Given the description of an element on the screen output the (x, y) to click on. 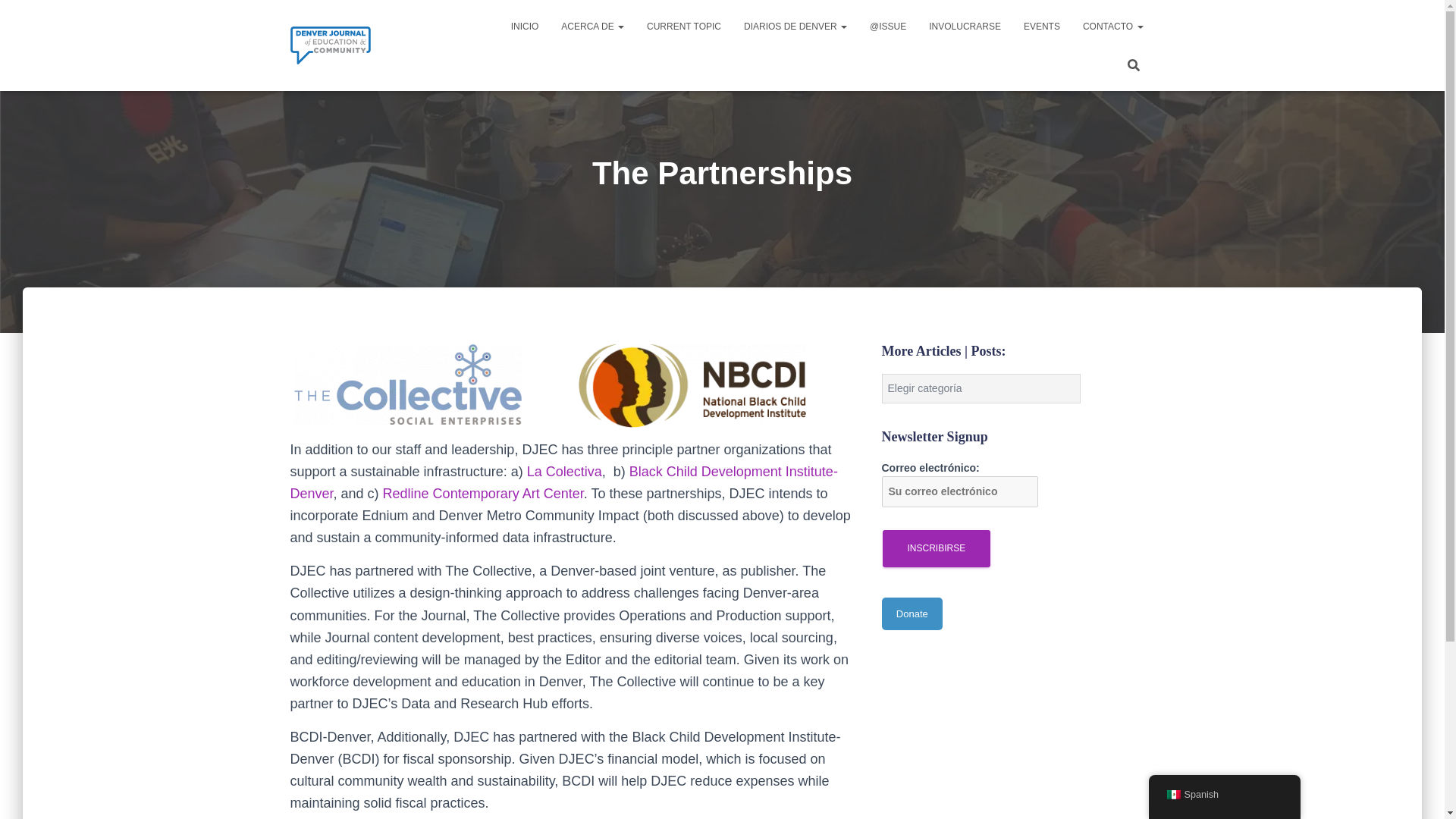
Donate (911, 613)
Black Child Development Institute-Denver (563, 482)
Inscribirse (936, 548)
Acerca de (592, 26)
INICIO (524, 26)
DJEC (330, 45)
DIARIOS DE DENVER (795, 26)
Spanish (1224, 794)
EVENTS (1041, 26)
CURRENT TOPIC (683, 26)
La Colectiva (564, 471)
INVOLUCRARSE (964, 26)
Inscribirse (936, 548)
Redline Contemporary Art Center (482, 493)
Current Topic (683, 26)
